Given the description of an element on the screen output the (x, y) to click on. 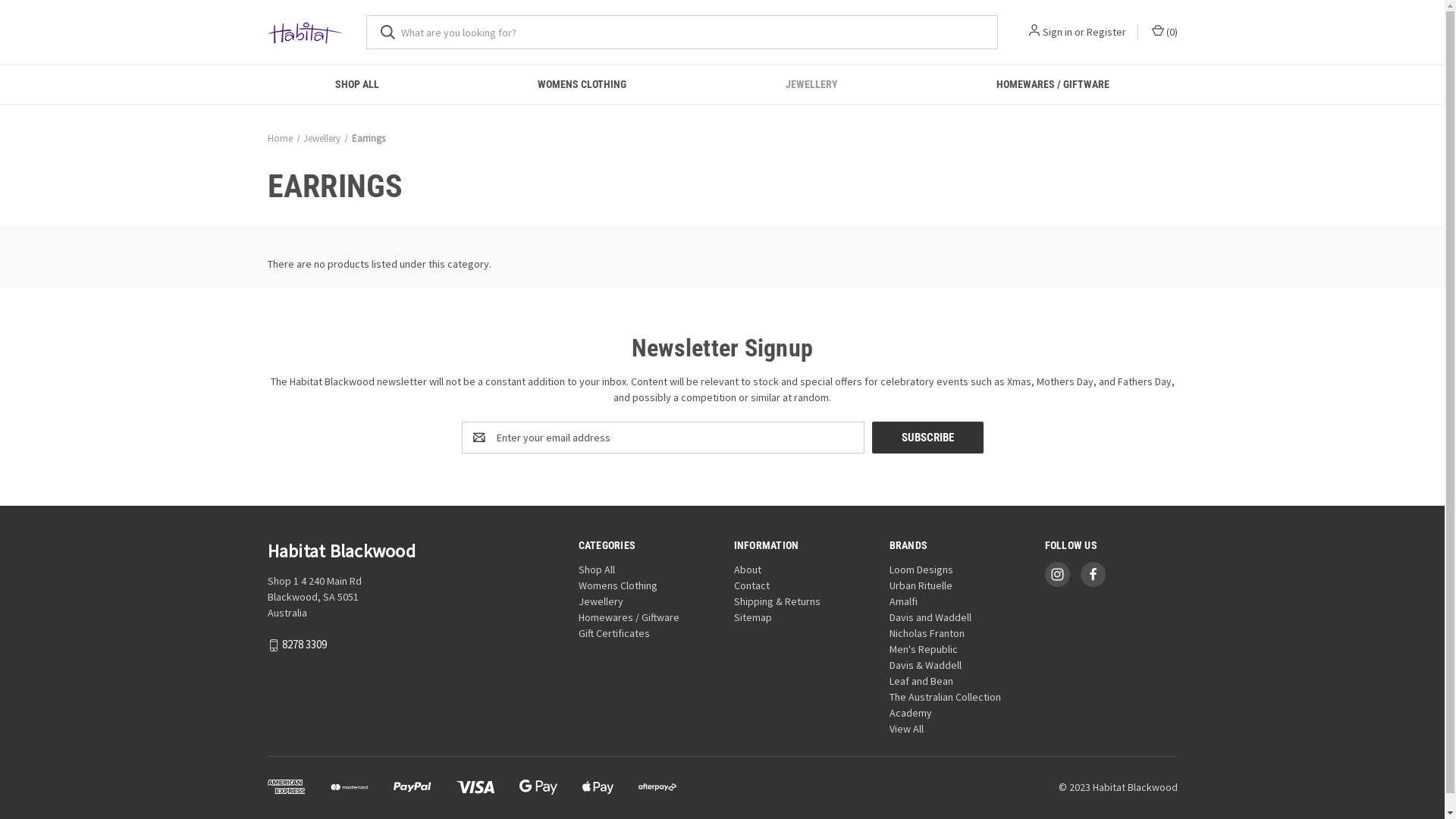
Loom Designs Element type: text (921, 569)
Sitemap Element type: text (752, 617)
The Australian Collection Element type: text (945, 696)
Jewellery Element type: text (600, 601)
Subscribe Element type: text (927, 437)
HOMEWARES / GIFTWARE Element type: text (1052, 84)
(0) Element type: text (1163, 32)
Leaf and Bean Element type: text (921, 680)
Davis & Waddell Element type: text (925, 664)
Amalfi Element type: text (903, 601)
Gift Certificates Element type: text (613, 633)
Davis and Waddell Element type: text (930, 617)
WOMENS CLOTHING Element type: text (582, 84)
8278 3309 Element type: text (304, 644)
JEWELLERY Element type: text (811, 84)
Womens Clothing Element type: text (617, 585)
Shop All Element type: text (596, 569)
Shipping & Returns Element type: text (777, 601)
Urban Rituelle Element type: text (920, 585)
About Element type: text (747, 569)
Jewellery Element type: text (321, 137)
Home Element type: text (278, 137)
Contact Element type: text (751, 585)
Homewares / Giftware Element type: text (628, 617)
Sign in Element type: text (1056, 32)
Habitat Blackwood Element type: hover (304, 31)
Earrings Element type: text (368, 137)
Register Element type: text (1105, 32)
SHOP ALL Element type: text (357, 84)
View All Element type: text (906, 728)
Men's Republic Element type: text (923, 648)
Nicholas Franton Element type: text (926, 633)
Academy Element type: text (910, 712)
